Given the description of an element on the screen output the (x, y) to click on. 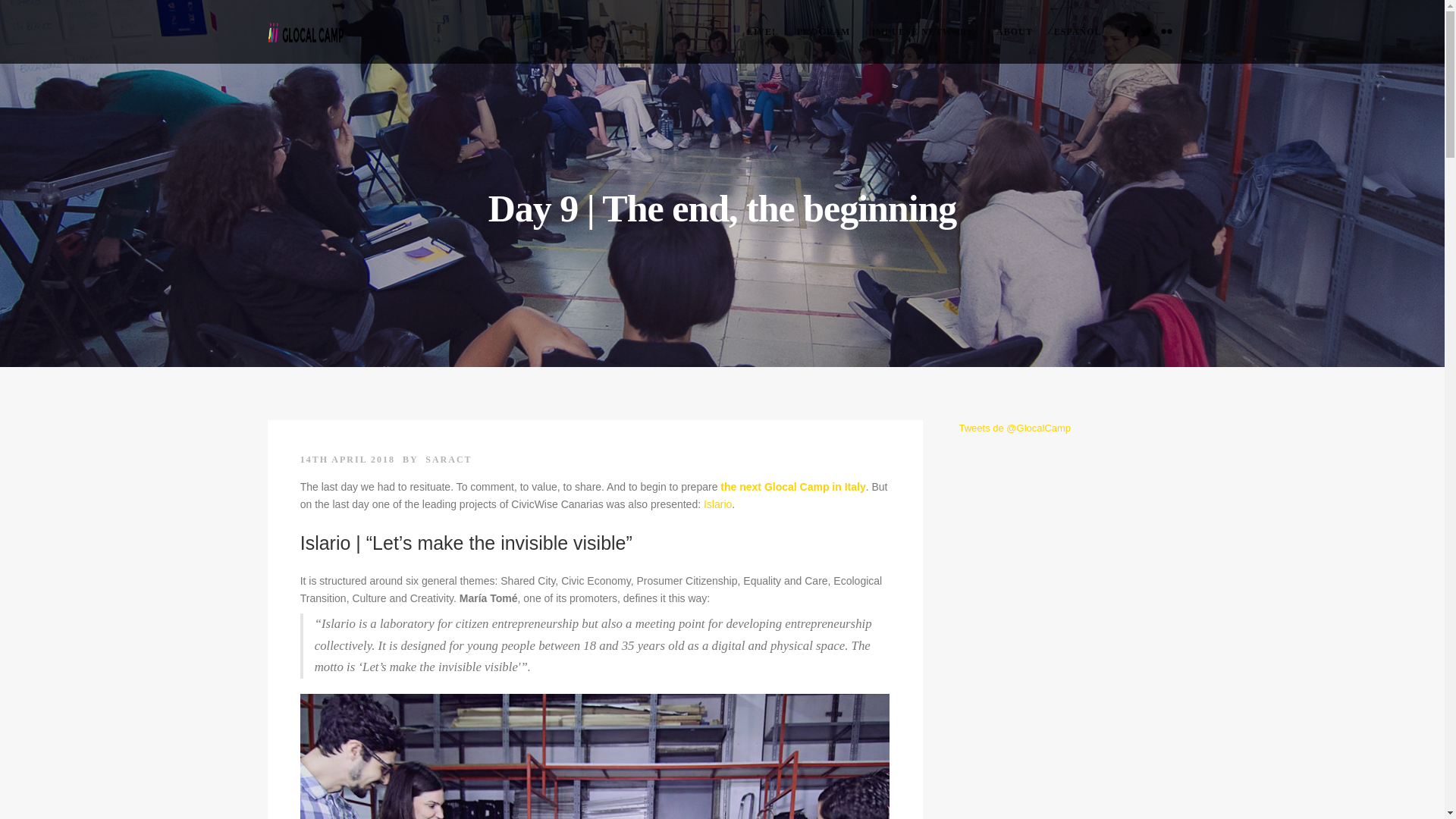
IMPULSE NETWORK (922, 31)
Follow us on Twitter (1144, 31)
ABOUT (1014, 31)
LIVE! (761, 31)
the next Glocal Camp in Italy (792, 486)
PROGRAM (823, 31)
Glocal Camp on Facebook (1125, 31)
SARACT (448, 459)
Islario (717, 503)
